Given the description of an element on the screen output the (x, y) to click on. 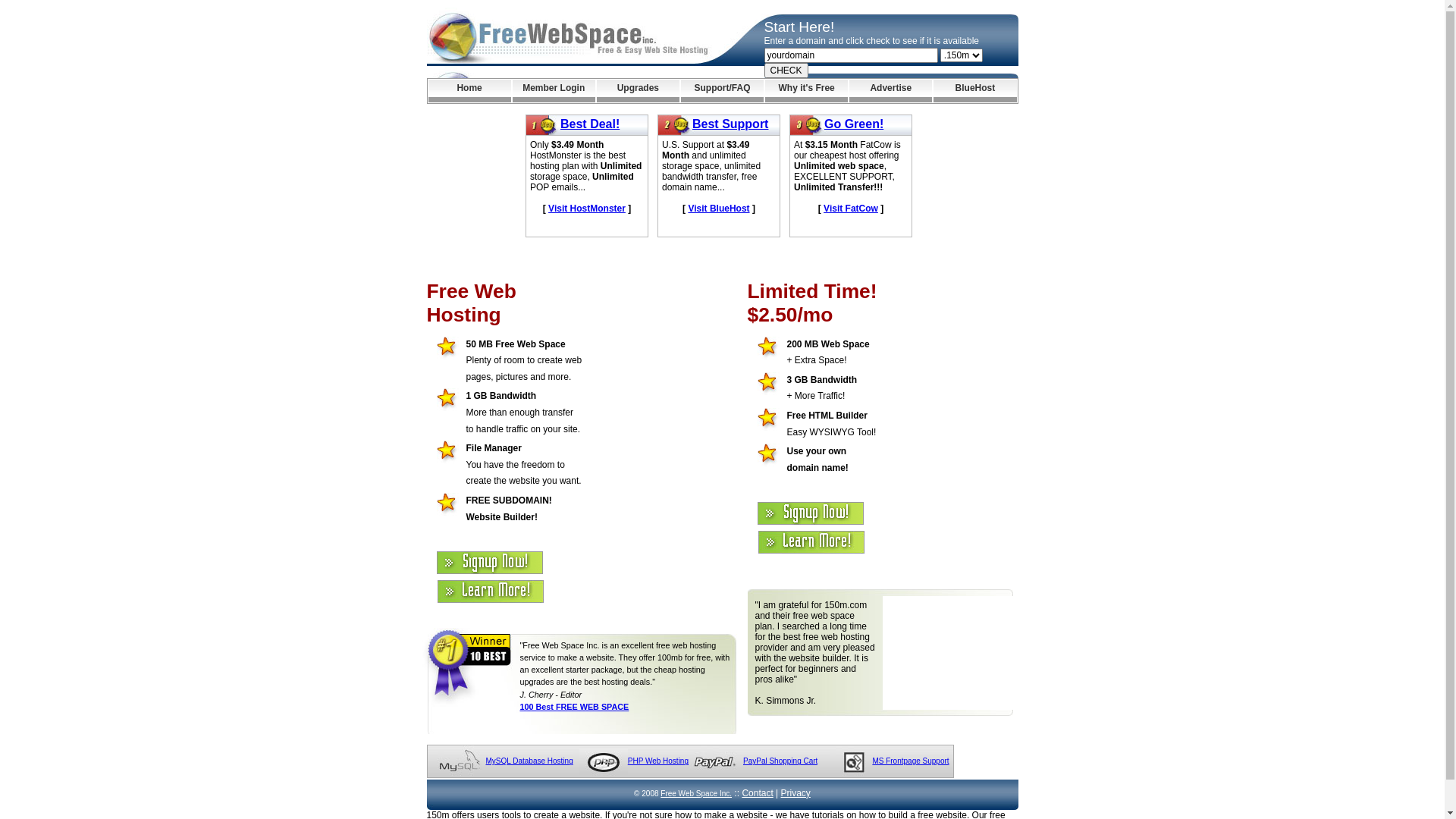
MS Frontpage Support Element type: text (910, 760)
100 Best FREE WEB SPACE Element type: text (574, 706)
BlueHost Element type: text (974, 90)
MySQL Database Hosting Element type: text (528, 760)
Member Login Element type: text (553, 90)
CHECK Element type: text (786, 70)
Support/FAQ Element type: text (721, 90)
Upgrades Element type: text (637, 90)
Home Element type: text (468, 90)
Advertise Element type: text (890, 90)
PayPal Shopping Cart Element type: text (780, 760)
Contact Element type: text (756, 792)
Privacy Element type: text (795, 792)
PHP Web Hosting Element type: text (657, 760)
Free Web Space Inc. Element type: text (695, 793)
Why it's Free Element type: text (806, 90)
